Given the description of an element on the screen output the (x, y) to click on. 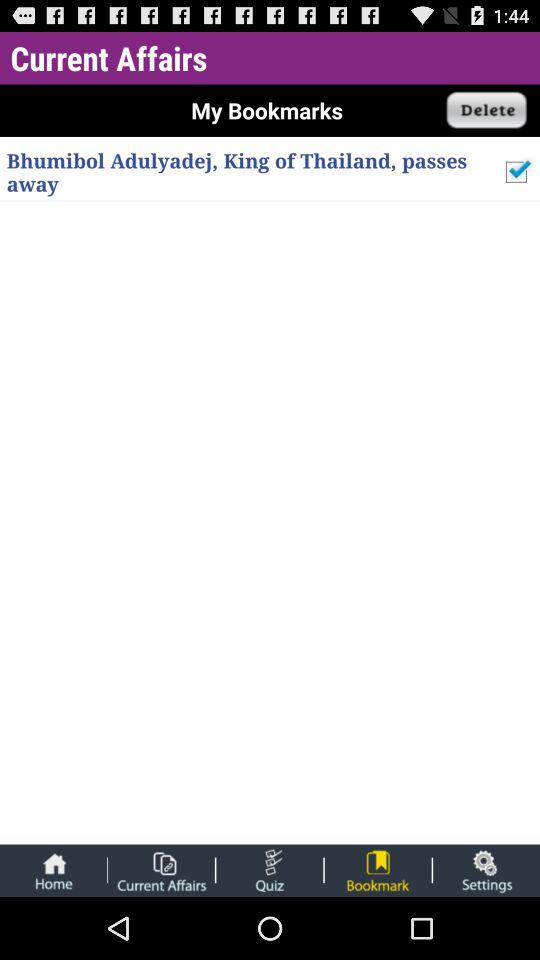
settings (486, 870)
